Given the description of an element on the screen output the (x, y) to click on. 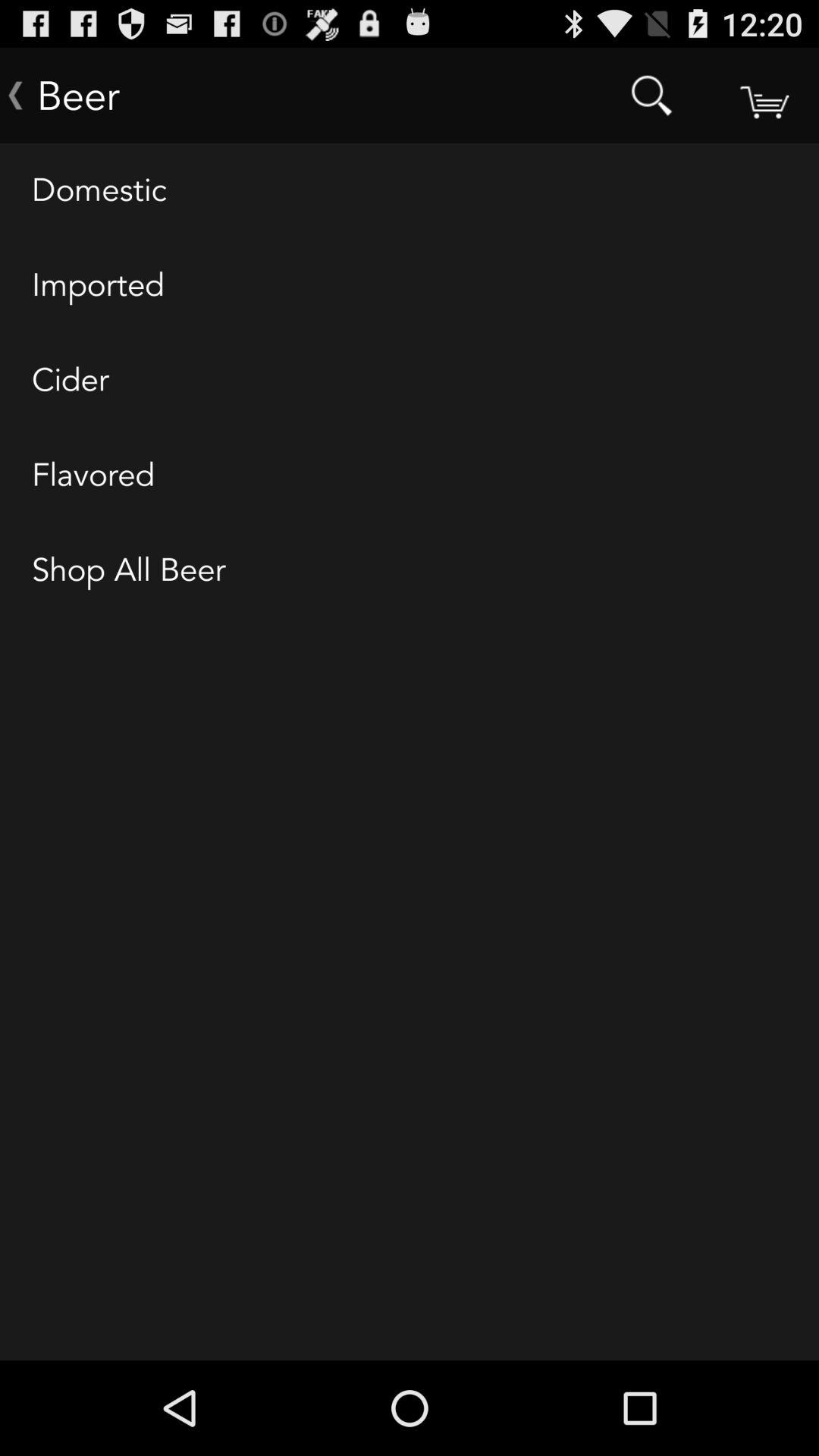
turn off shop all beer at the center (409, 570)
